Given the description of an element on the screen output the (x, y) to click on. 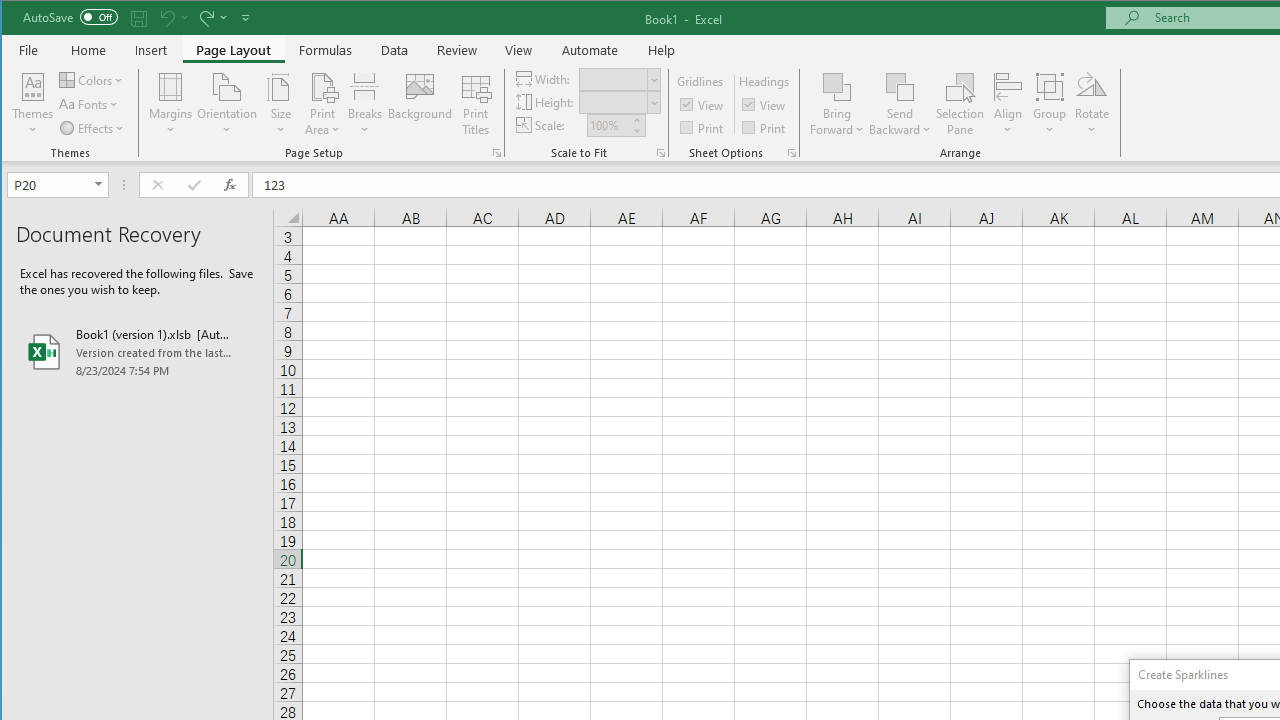
Fonts (90, 103)
Orientation (226, 104)
Rotate (1092, 104)
Height (612, 102)
Size (280, 104)
Colors (93, 80)
Less (636, 130)
Page Setup (660, 152)
